Given the description of an element on the screen output the (x, y) to click on. 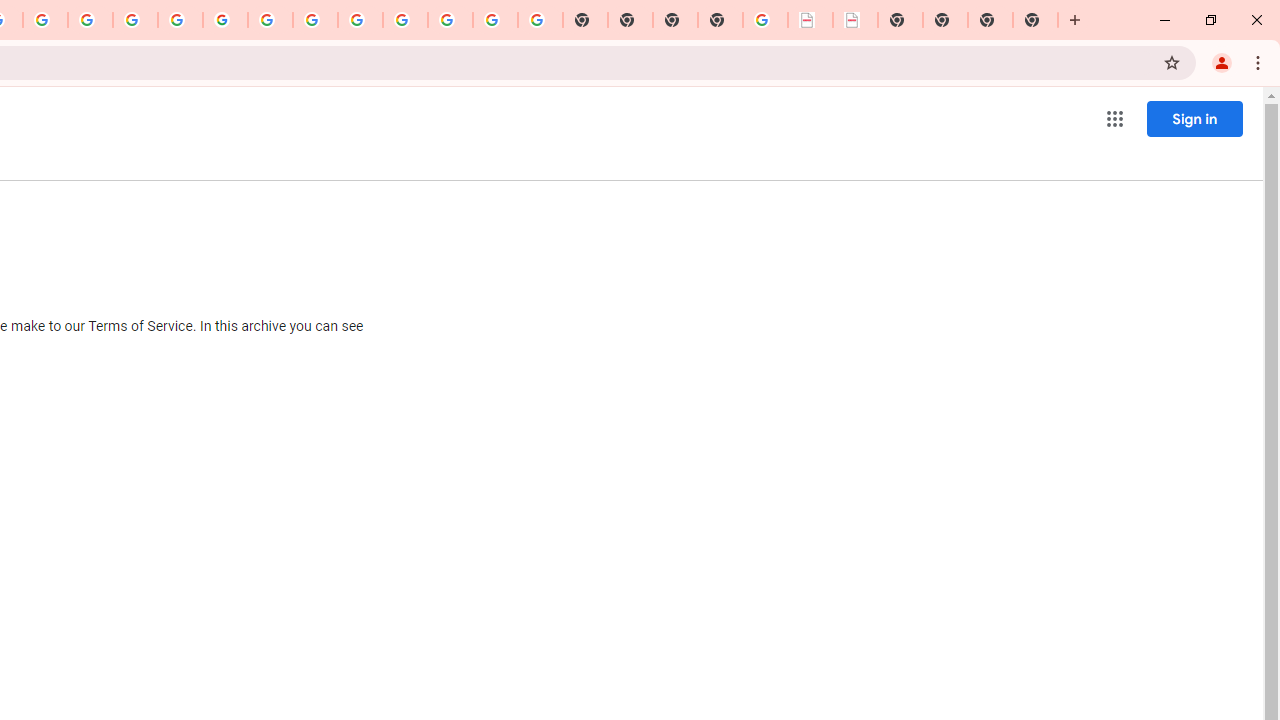
Privacy Help Center - Policies Help (89, 20)
YouTube (270, 20)
Privacy Help Center - Policies Help (134, 20)
BAE Systems Brasil | BAE Systems (855, 20)
New Tab (1035, 20)
